Given the description of an element on the screen output the (x, y) to click on. 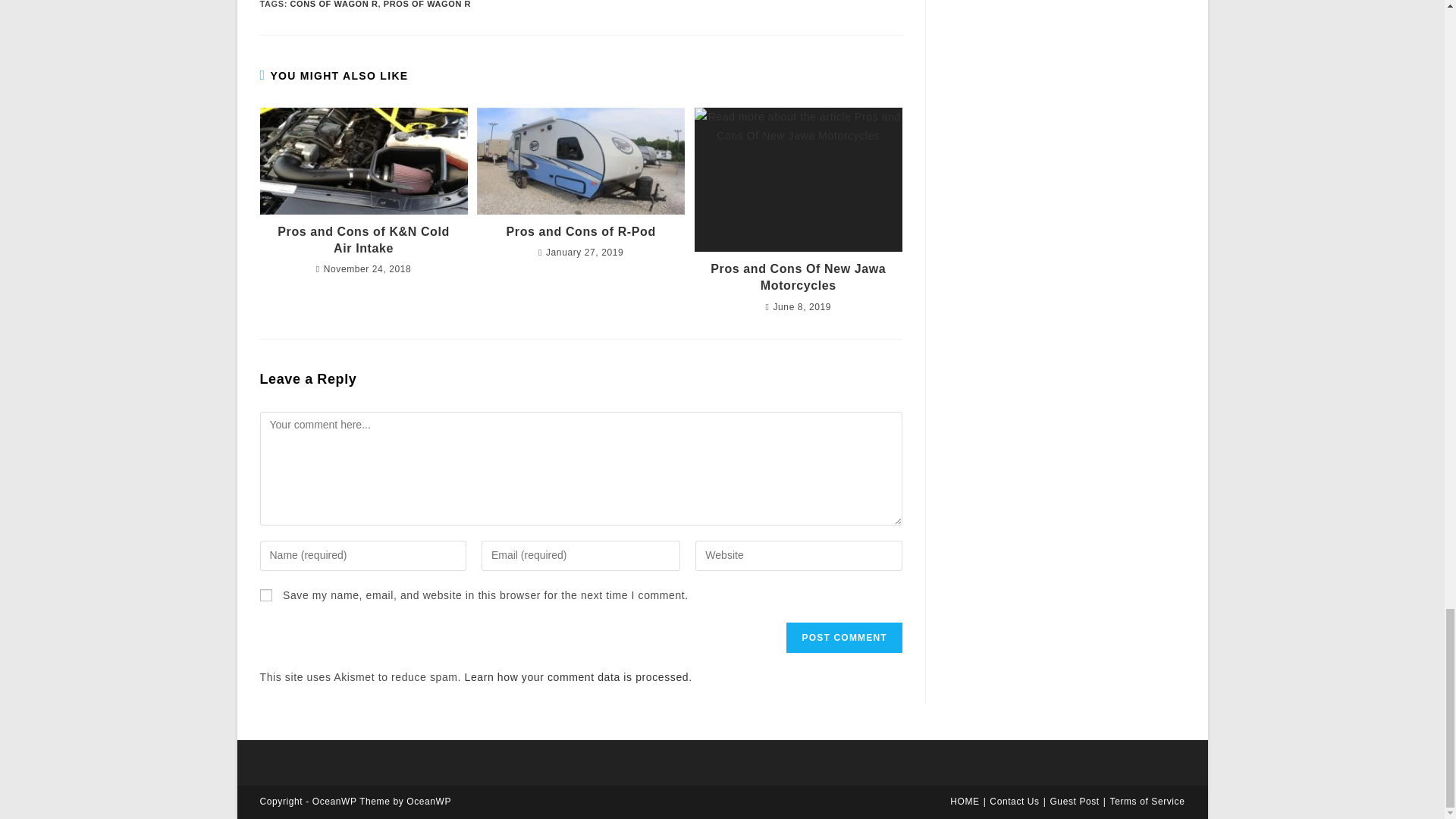
yes (264, 594)
Post Comment (843, 637)
